Given the description of an element on the screen output the (x, y) to click on. 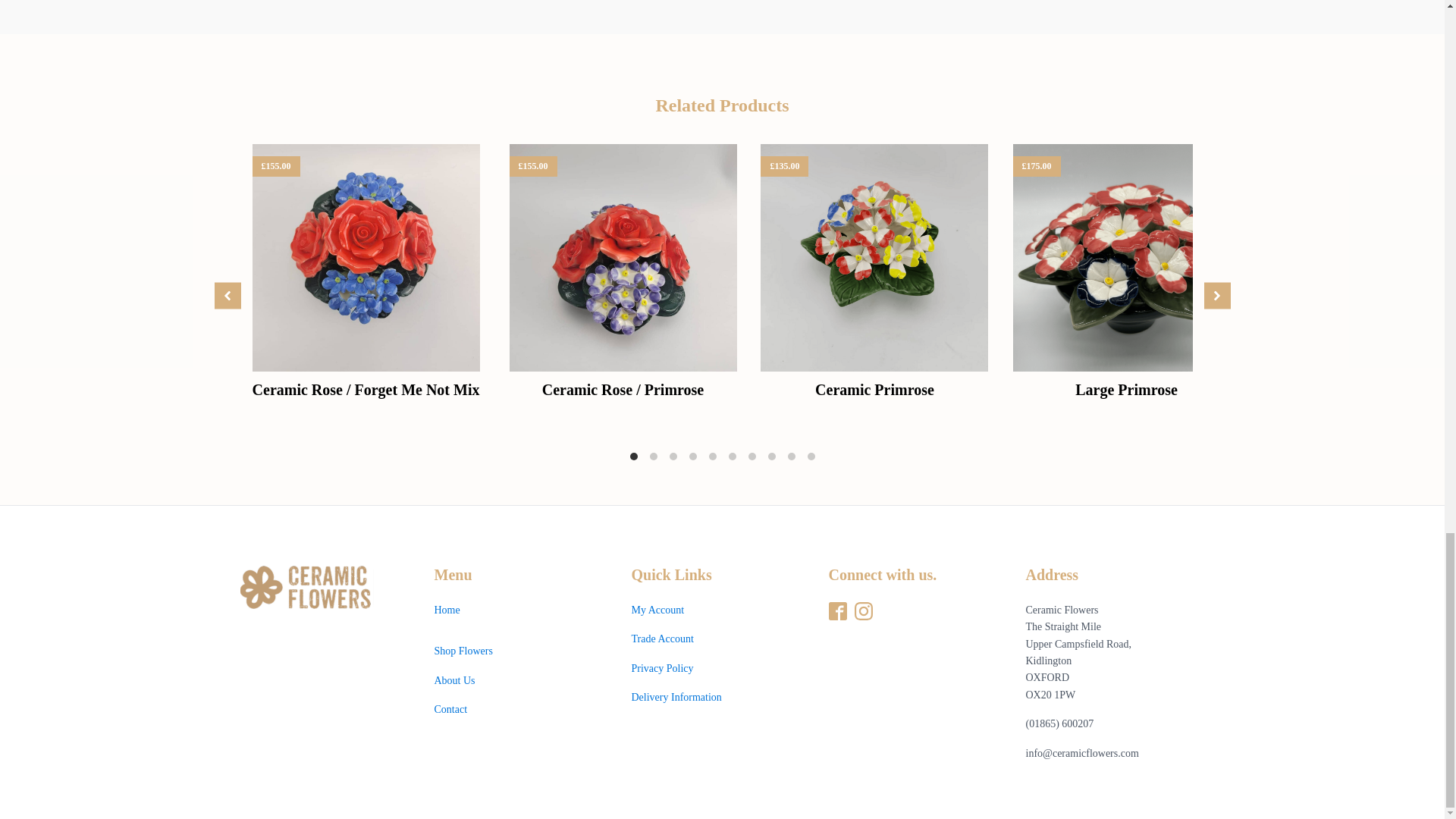
Ceramic Primrose (874, 389)
Large Primrose (1126, 389)
